Given the description of an element on the screen output the (x, y) to click on. 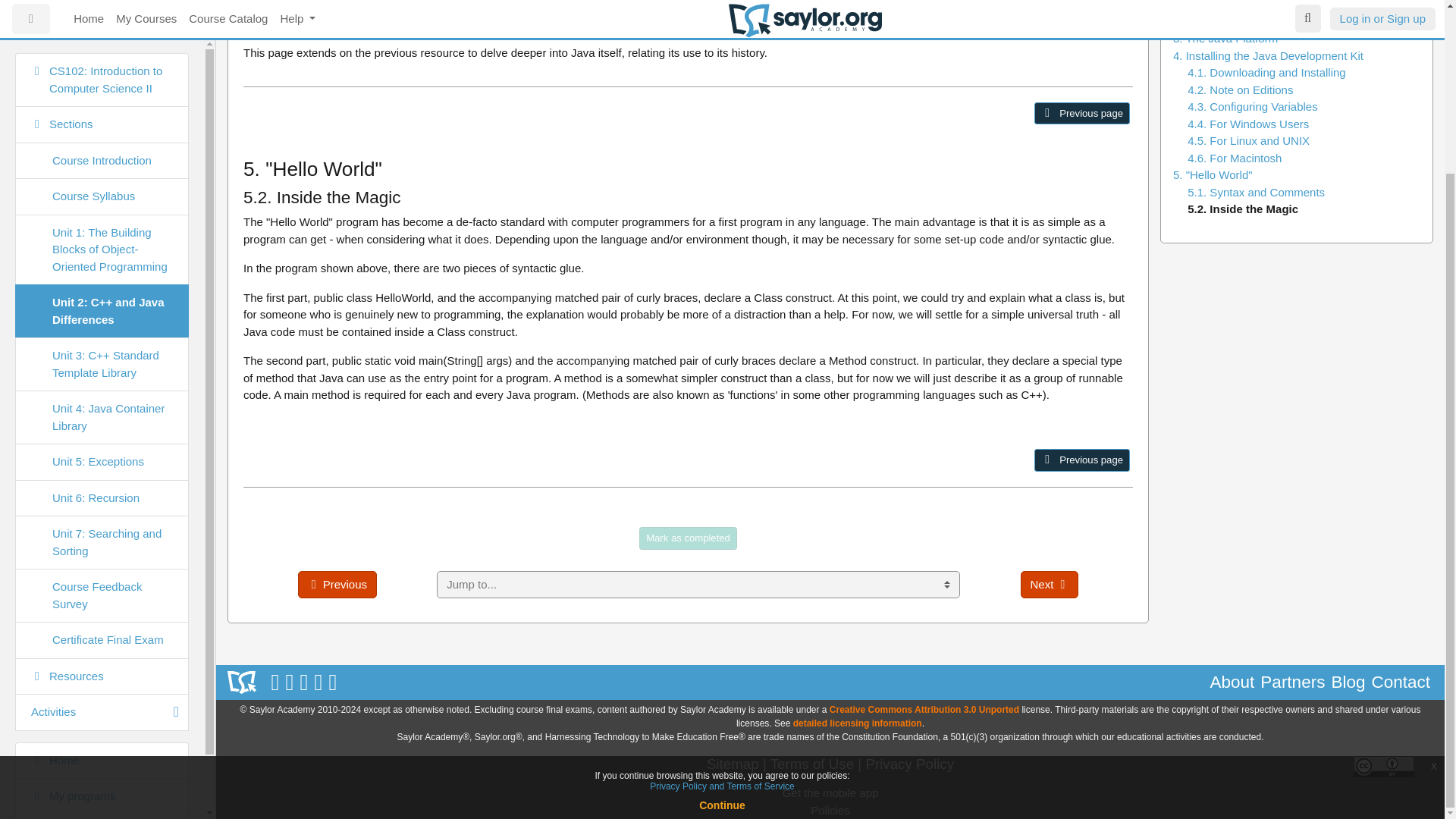
Unit 6: Recursion (101, 287)
Home (101, 549)
Unit 5: Exceptions (101, 252)
Unit 4: Java Container Library (101, 207)
Unit 1: The Building Blocks of Object-Oriented Programming (101, 39)
Previous: 5.1. Syntax and Comments (1081, 459)
My certificates (101, 622)
Unit 7: Searching and Sorting (101, 332)
My programs (101, 586)
Activities (101, 502)
Previous: 5.1. Syntax and Comments (1046, 459)
Certificate Final Exam (101, 429)
Previous: 5.1. Syntax and Comments (1081, 113)
Course Syllabus (101, 2)
Course Feedback Survey (101, 385)
